Given the description of an element on the screen output the (x, y) to click on. 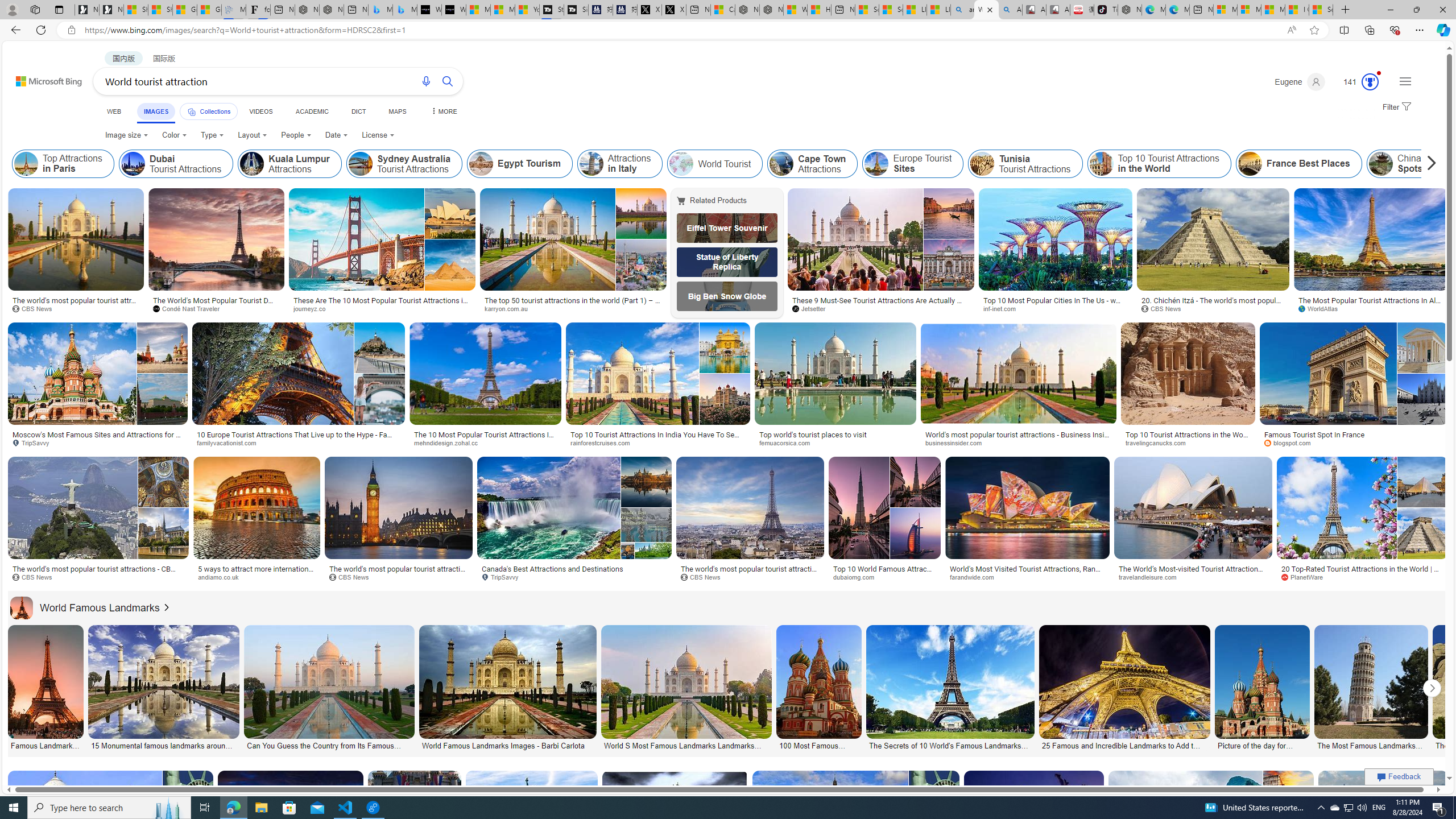
Big Ben Snow Globe (727, 296)
Color (173, 135)
familyvacationist.com (230, 442)
Top 10 World Famous Attractions of Dubai (884, 572)
Scroll right (1428, 163)
100 Most Famous Landmarks Around the World | RAX BOOK (819, 744)
20 Top-Rated Tourist Attractions in the World | PlanetWare (1362, 572)
